Given the description of an element on the screen output the (x, y) to click on. 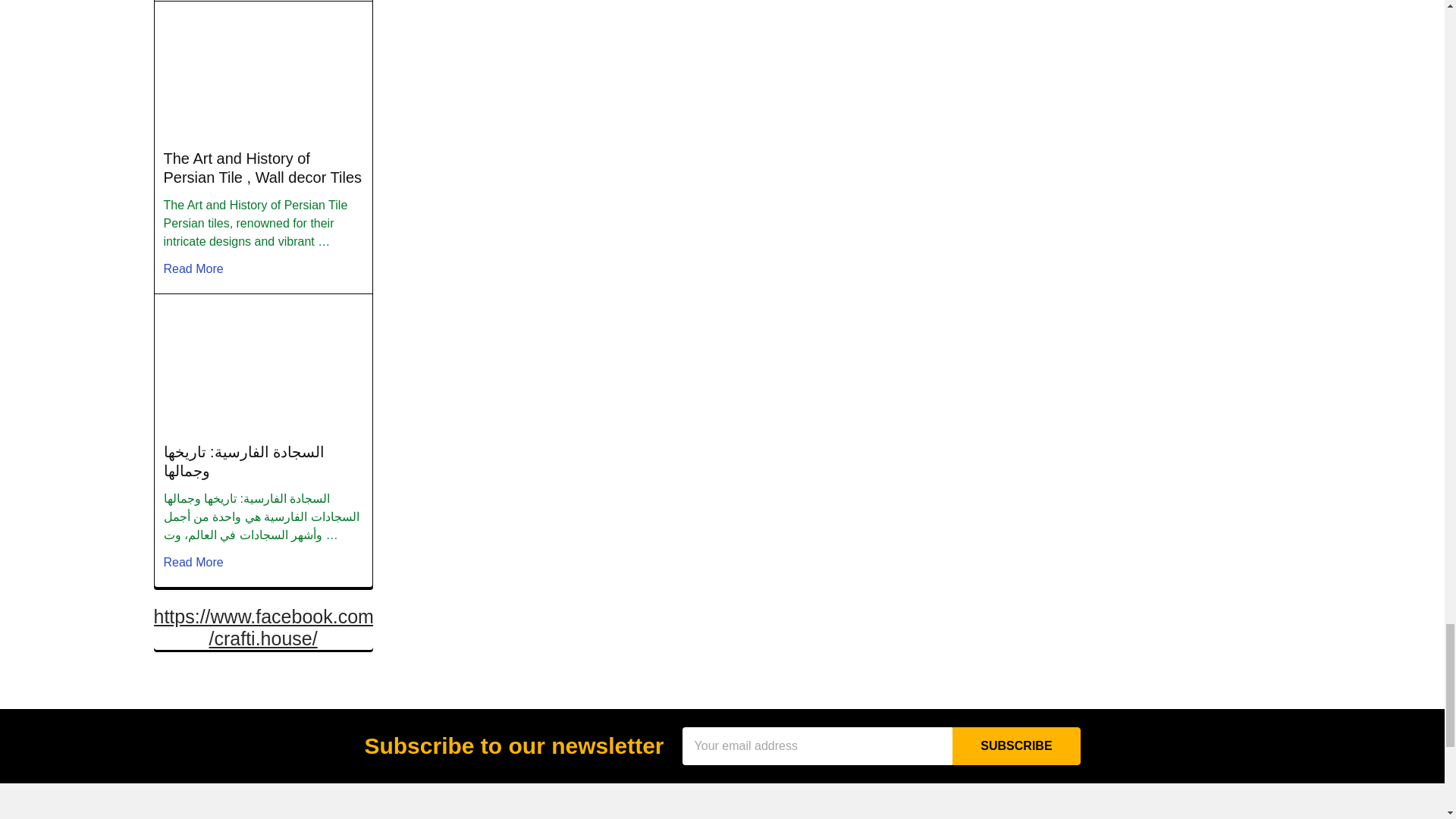
The Art and History of Persian Tile , Wall decor Tiles (262, 73)
Subscribe (1016, 745)
